Given the description of an element on the screen output the (x, y) to click on. 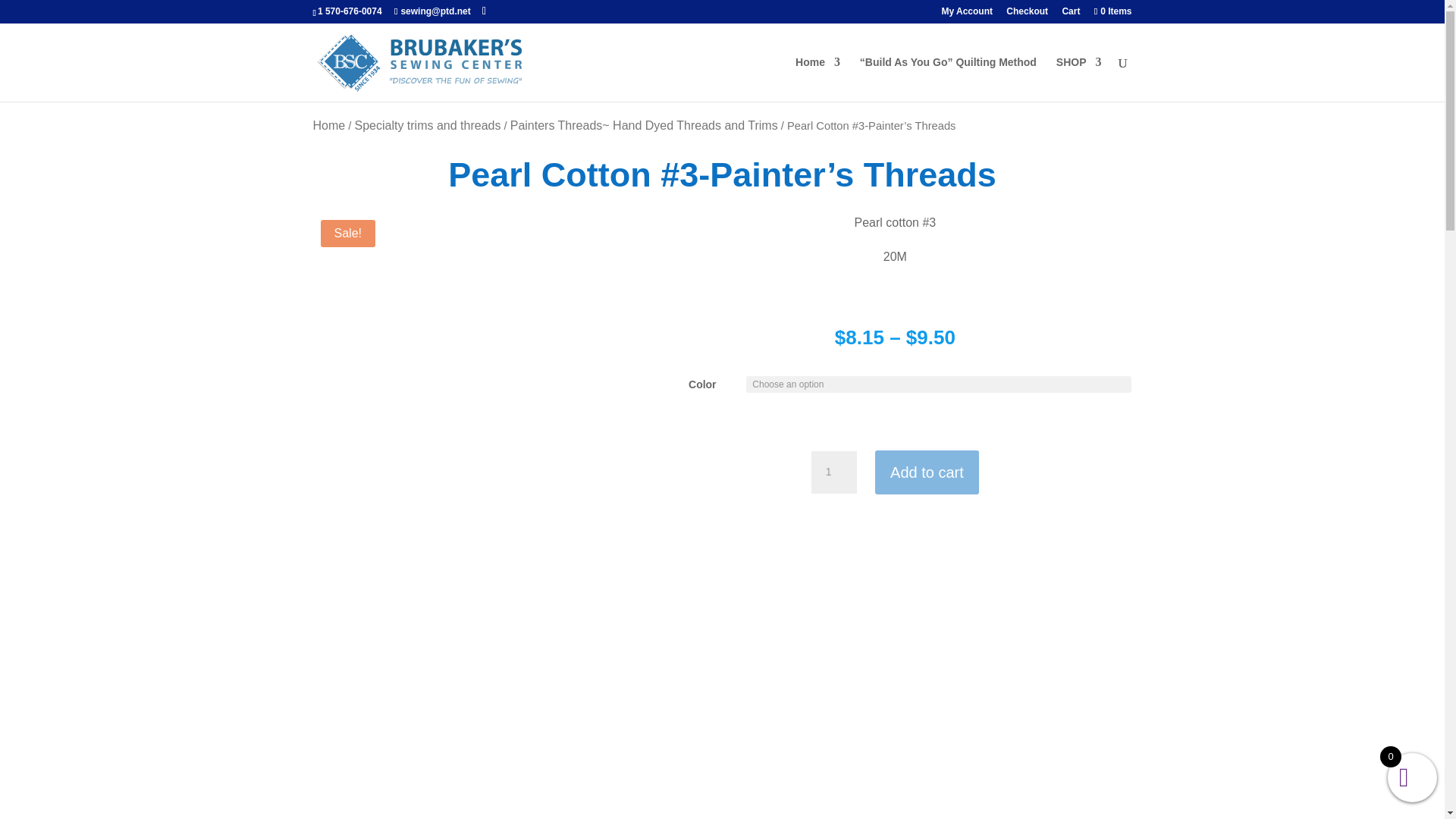
Specialty trims and threads (426, 124)
Cart (1070, 14)
1 (833, 472)
Home (817, 78)
My Account (966, 14)
SHOP (1079, 78)
0 Items (1110, 10)
Checkout (1027, 14)
Home (329, 124)
